Given the description of an element on the screen output the (x, y) to click on. 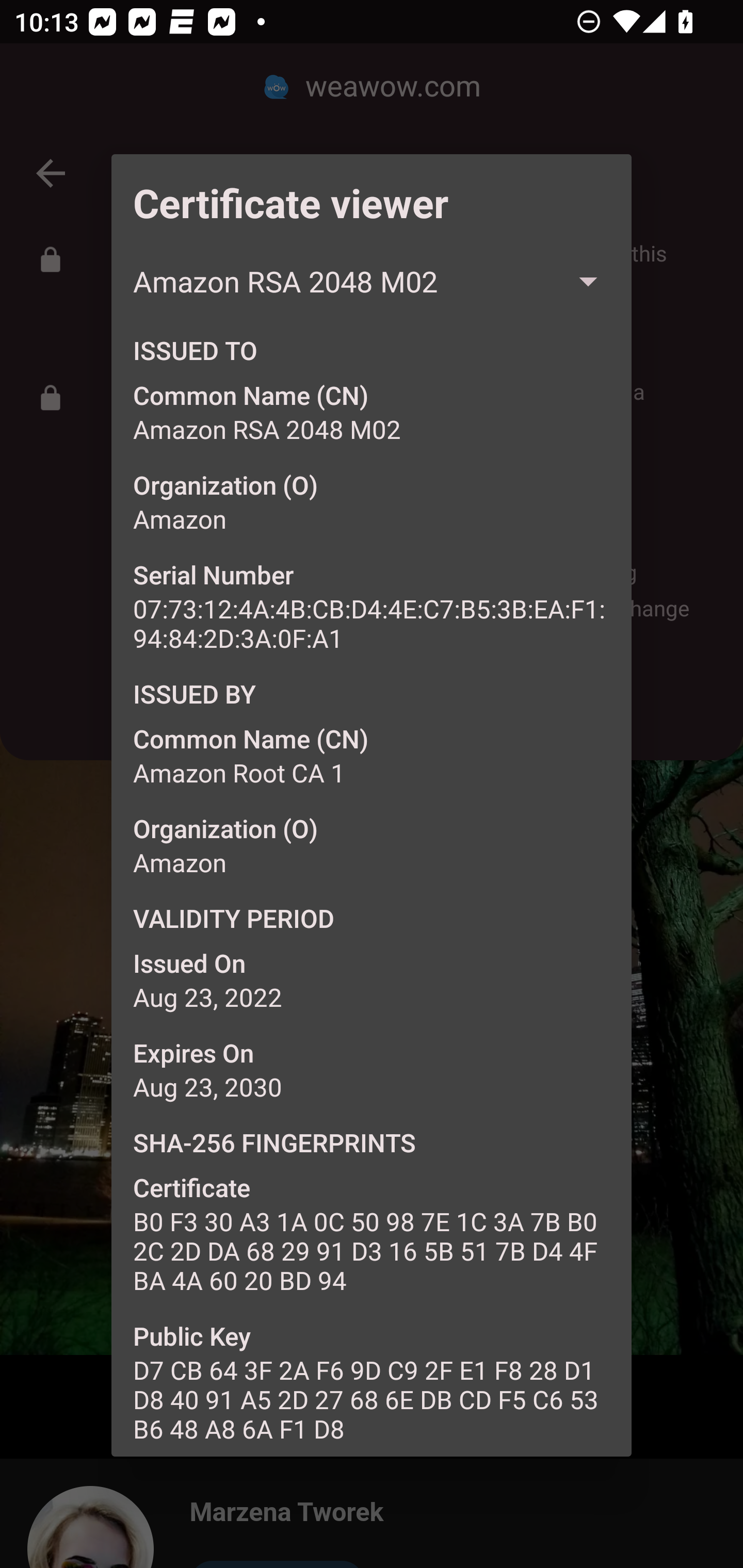
Amazon RSA 2048 M02 (371, 281)
